Given the description of an element on the screen output the (x, y) to click on. 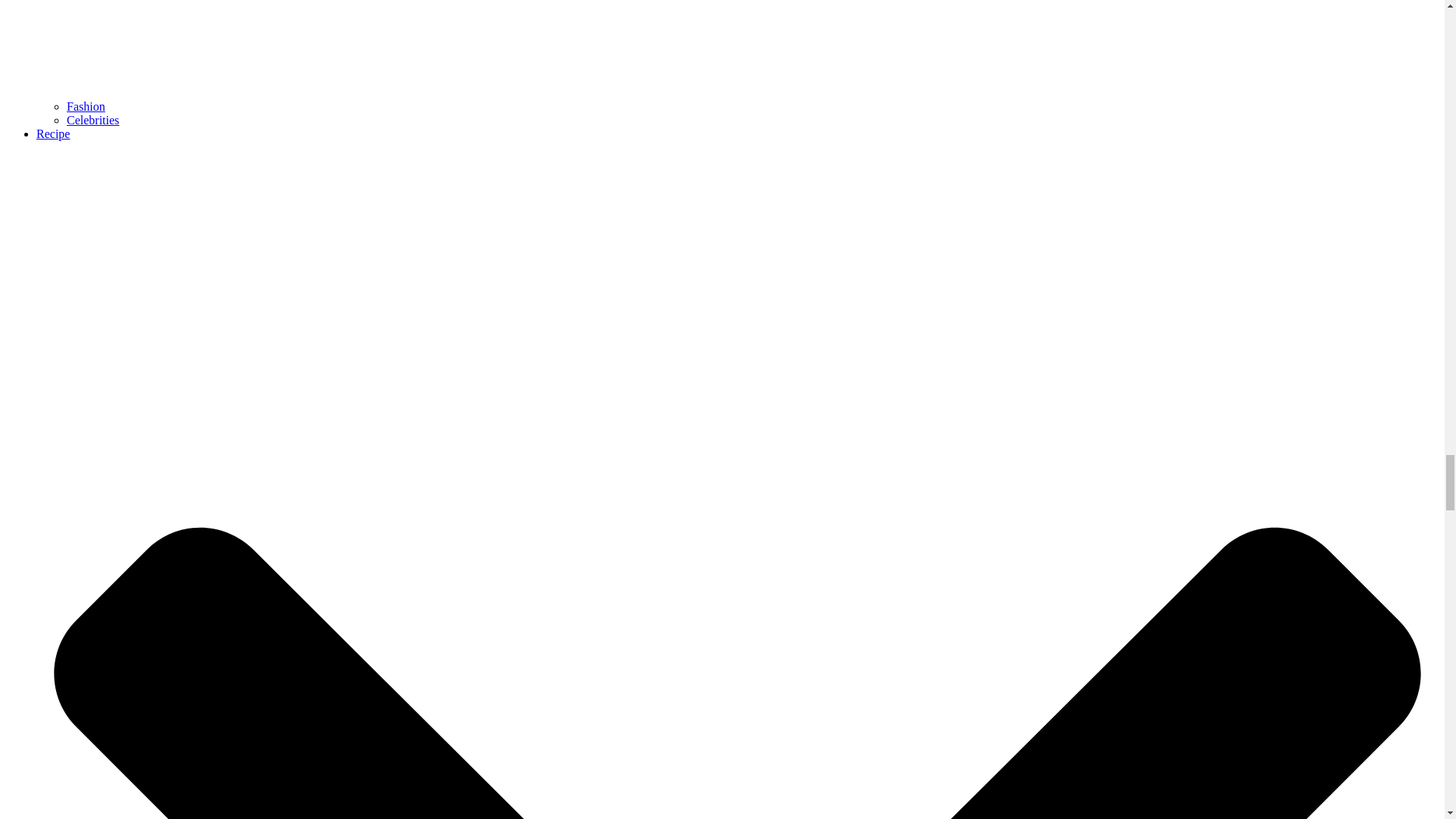
Fashion (85, 106)
Fashion (85, 106)
Celebrities (92, 119)
